Given the description of an element on the screen output the (x, y) to click on. 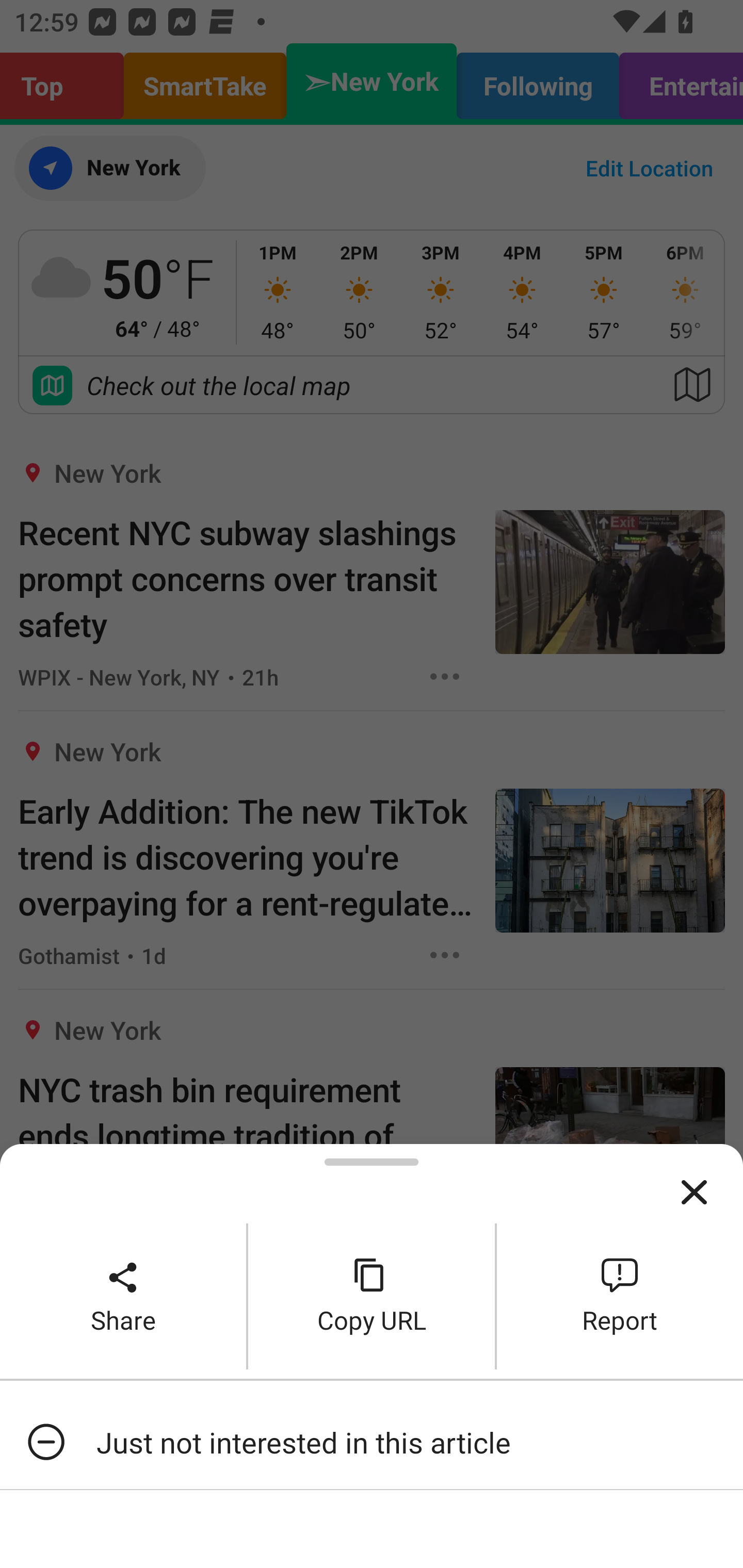
Close (694, 1192)
Share (122, 1295)
Copy URL (371, 1295)
Report (620, 1295)
Just not interested in this article (371, 1442)
